Given the description of an element on the screen output the (x, y) to click on. 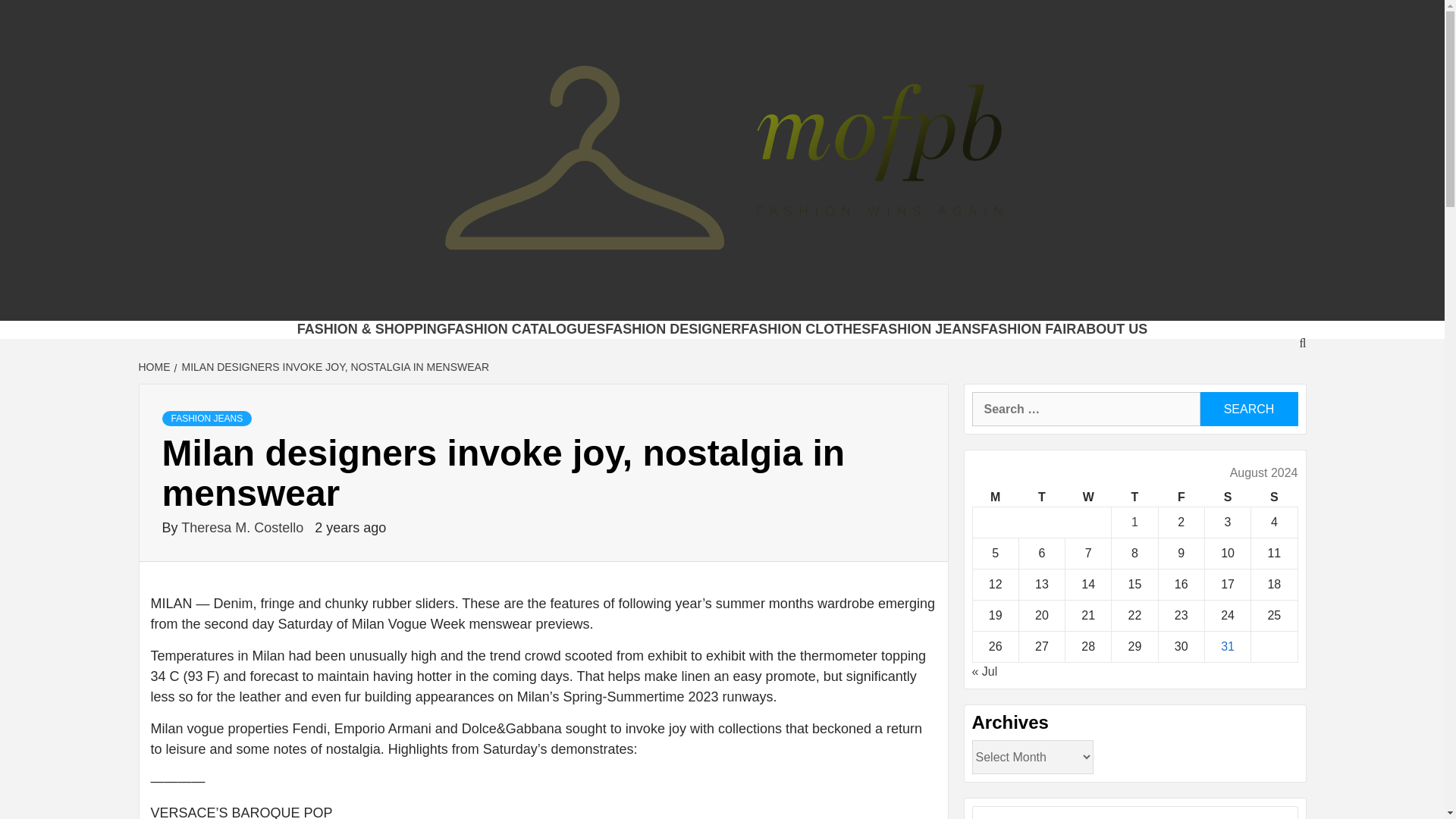
FASHION FAIR (1027, 328)
Search (1248, 408)
MILAN DESIGNERS INVOKE JOY, NOSTALGIA IN MENSWEAR (333, 367)
Tuesday (1040, 497)
FASHION JEANS (924, 328)
Saturday (1227, 497)
FASHION DESIGNER (673, 328)
Search (1248, 408)
FASHION CLOTHES (805, 328)
Thursday (1134, 497)
